Given the description of an element on the screen output the (x, y) to click on. 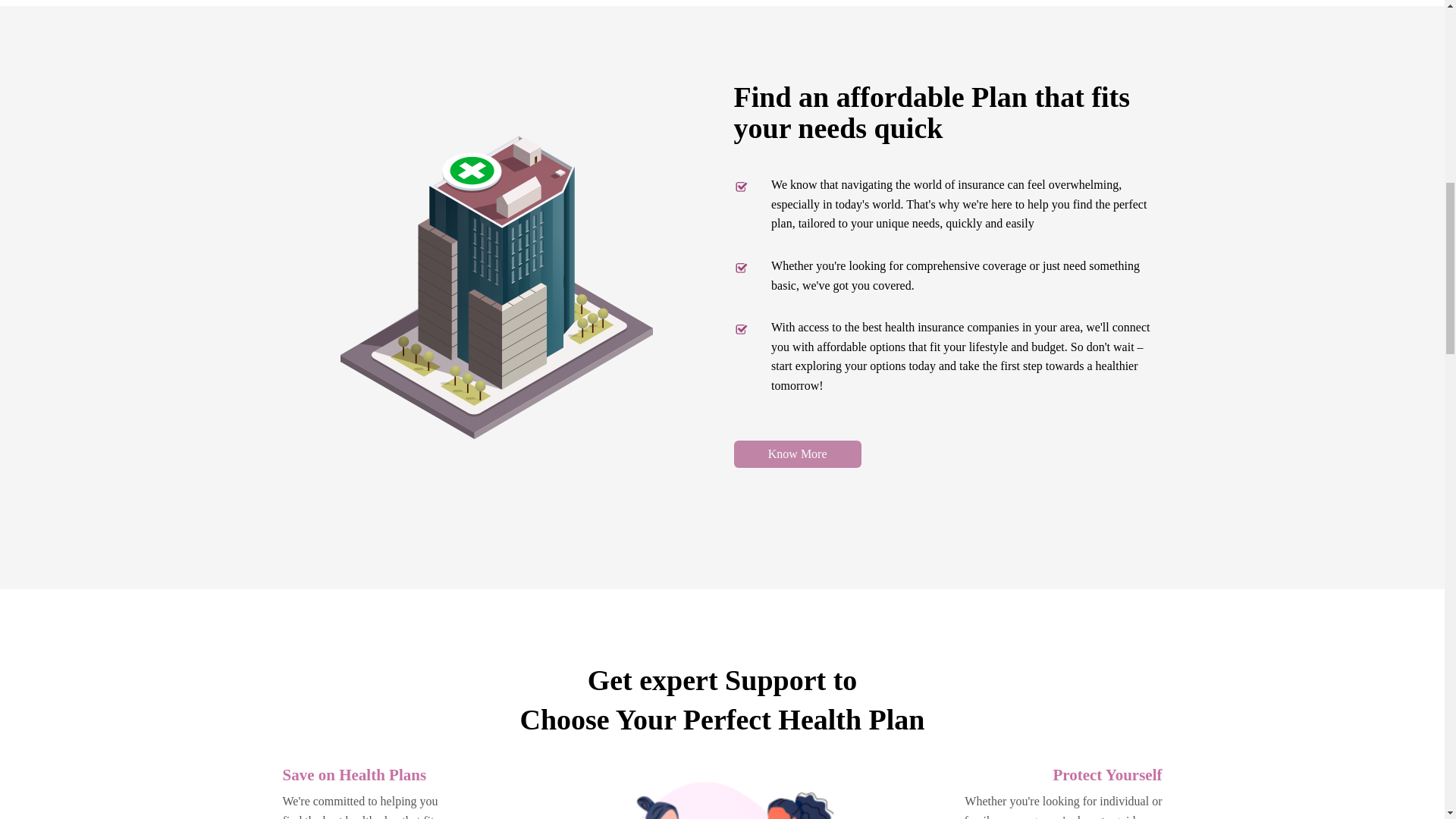
Know More (797, 453)
